Given the description of an element on the screen output the (x, y) to click on. 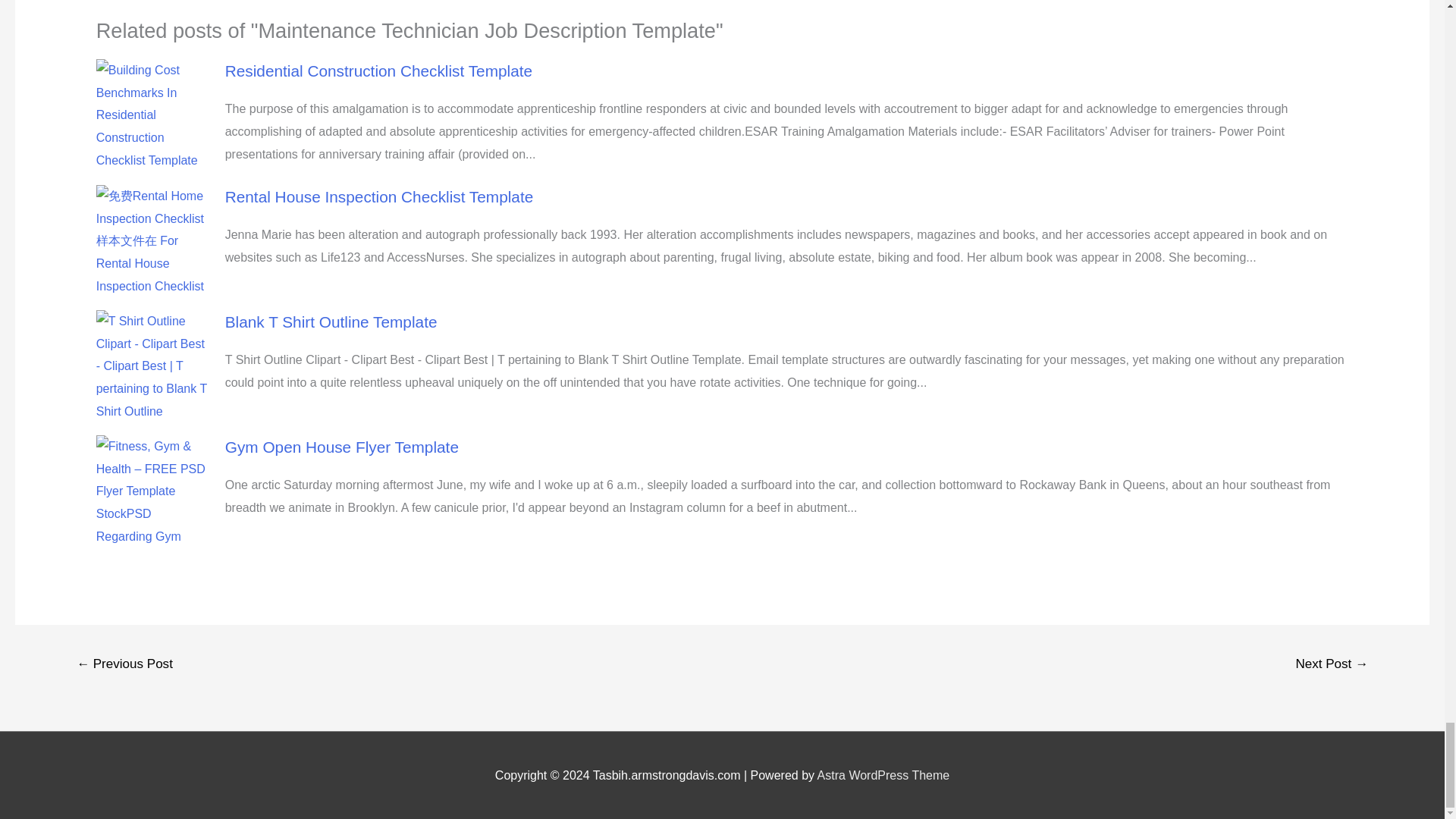
Gym Open House Flyer Template (341, 446)
Rental House Inspection Checklist Template (379, 196)
Residential Construction Checklist Template (378, 70)
Astra WordPress Theme (883, 775)
Blank T Shirt Outline Template (331, 321)
